Given the description of an element on the screen output the (x, y) to click on. 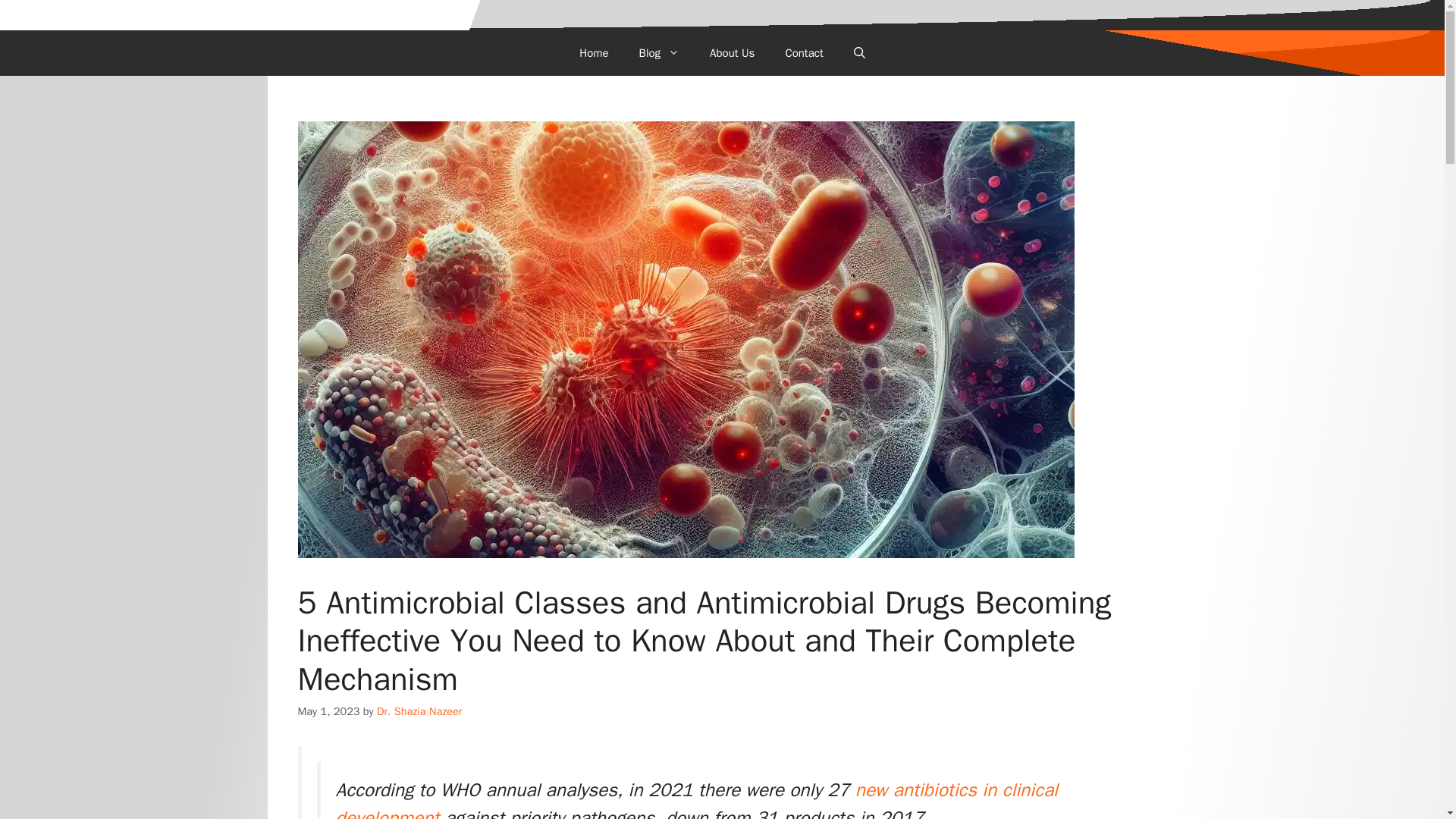
Home (593, 53)
new antibiotics in clinical development (695, 798)
View all posts by Dr. Shazia Nazeer (419, 711)
About Us (732, 53)
Contact (804, 53)
Dr. Shazia Nazeer (419, 711)
Blog (659, 53)
